Given the description of an element on the screen output the (x, y) to click on. 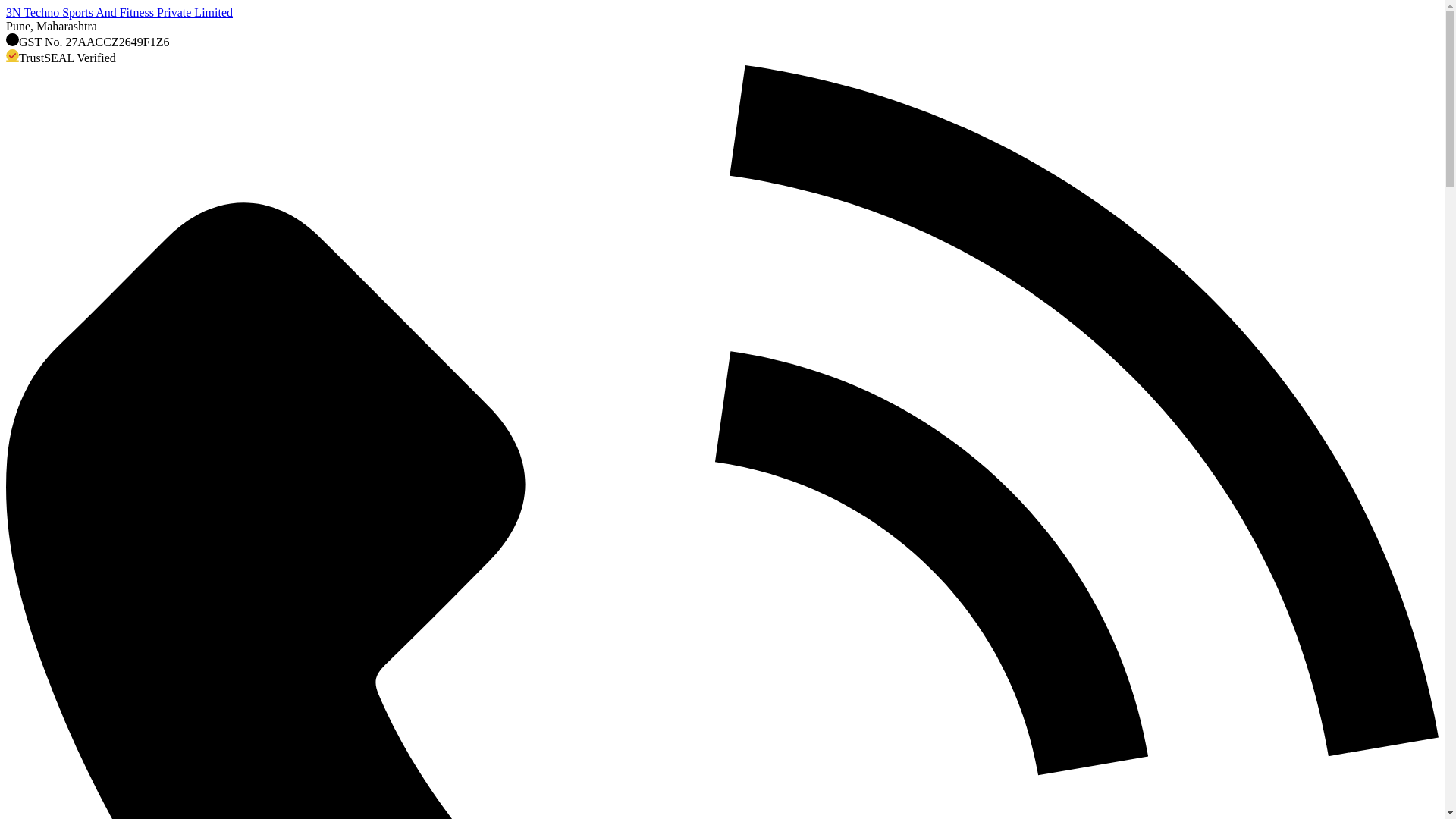
TrustSEAL Verified Element type: text (722, 57)
3N Techno Sports And Fitness Private Limited Element type: text (722, 12)
